Given the description of an element on the screen output the (x, y) to click on. 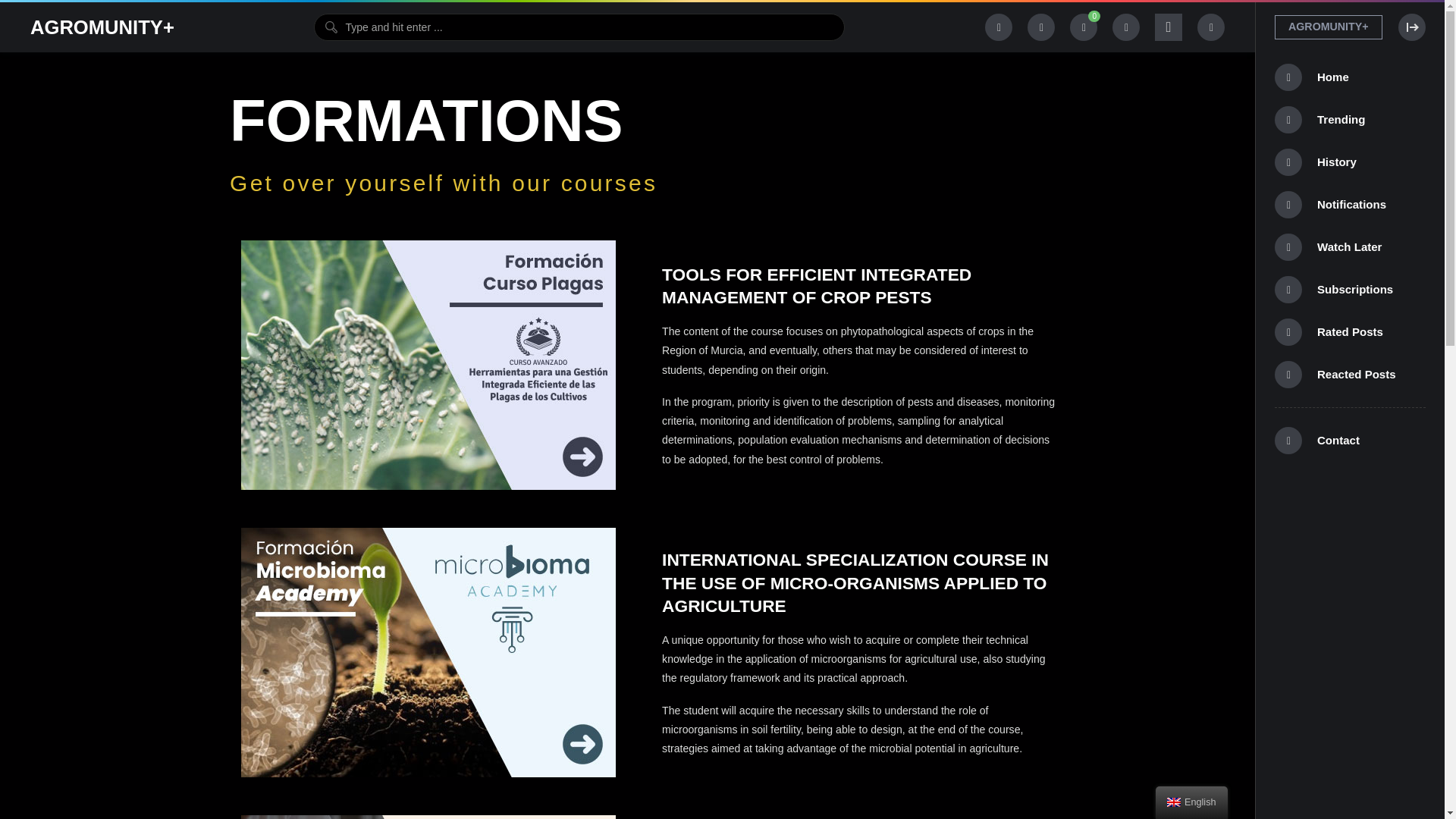
Notifications (1350, 204)
0 (1083, 26)
English (1173, 801)
Trending (1350, 119)
English (1191, 802)
Reacted Posts (1350, 373)
Subscriptions (1350, 289)
Watch Later (1350, 247)
History (1350, 161)
Contact (1350, 440)
Rated Posts (1350, 331)
Home (1350, 77)
